Given the description of an element on the screen output the (x, y) to click on. 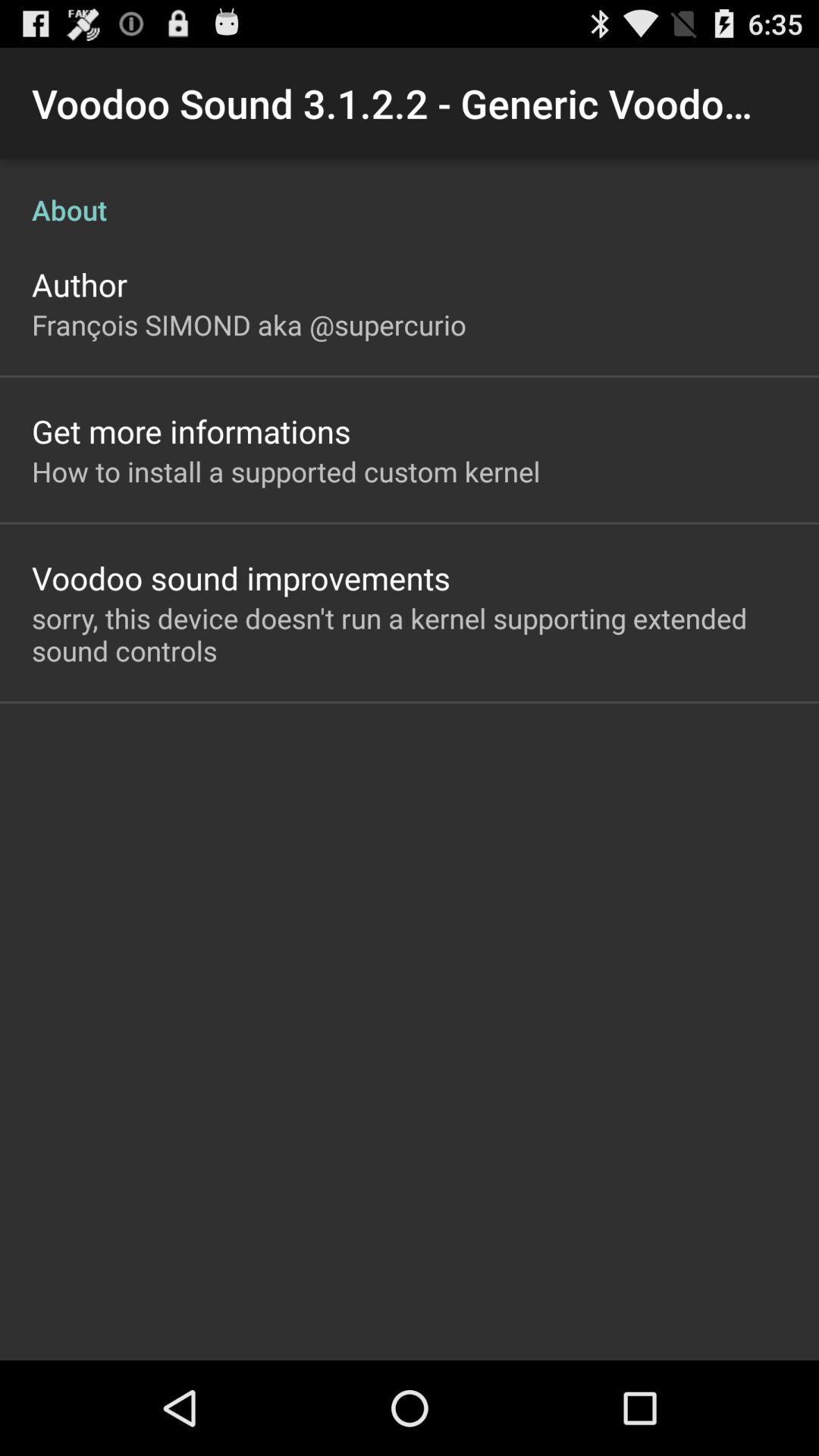
click the icon at the center (409, 634)
